Given the description of an element on the screen output the (x, y) to click on. 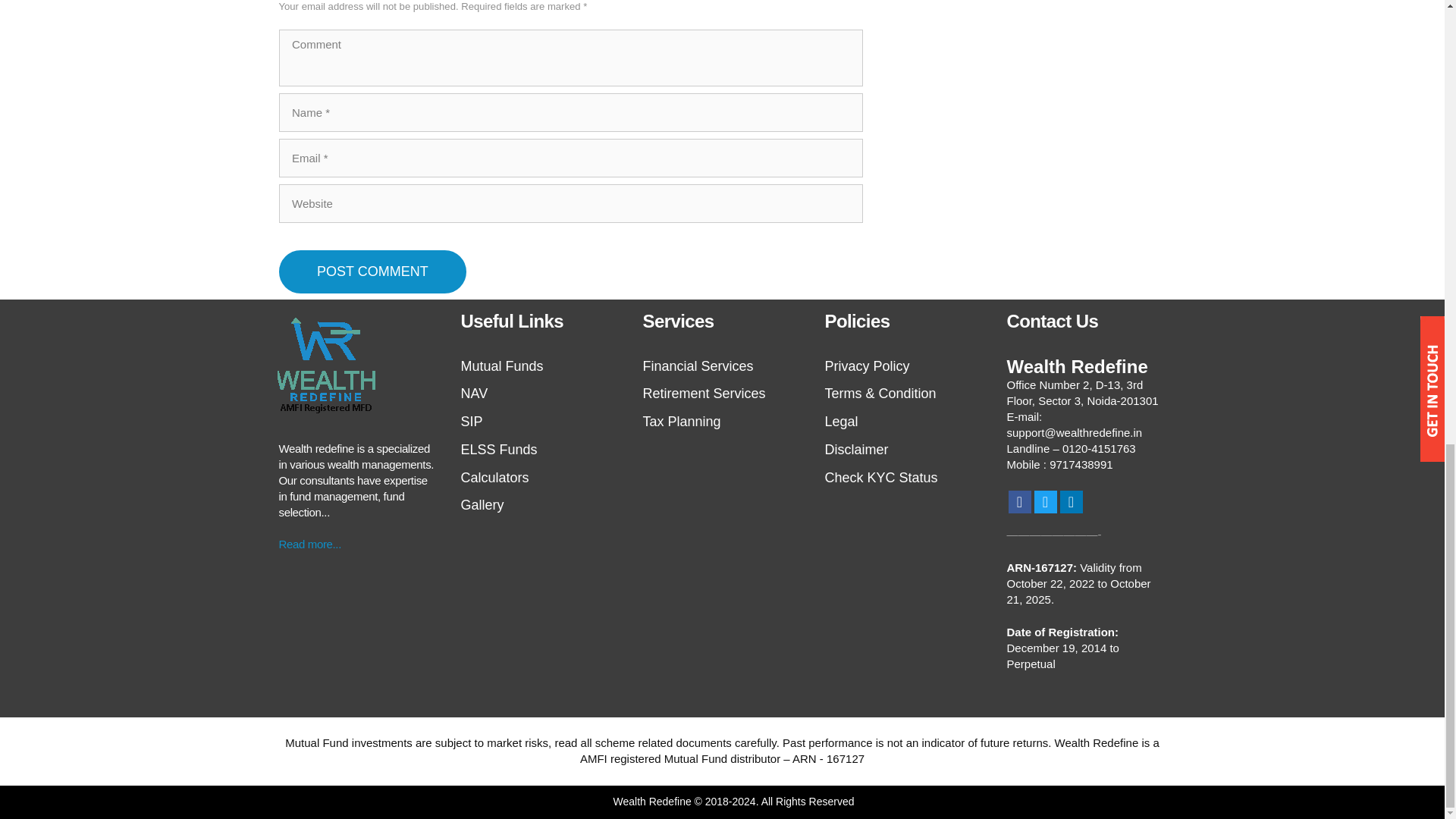
LinkedIn (1071, 501)
Post Comment (373, 272)
Facebook (1019, 501)
Twitter (1045, 501)
